Given the description of an element on the screen output the (x, y) to click on. 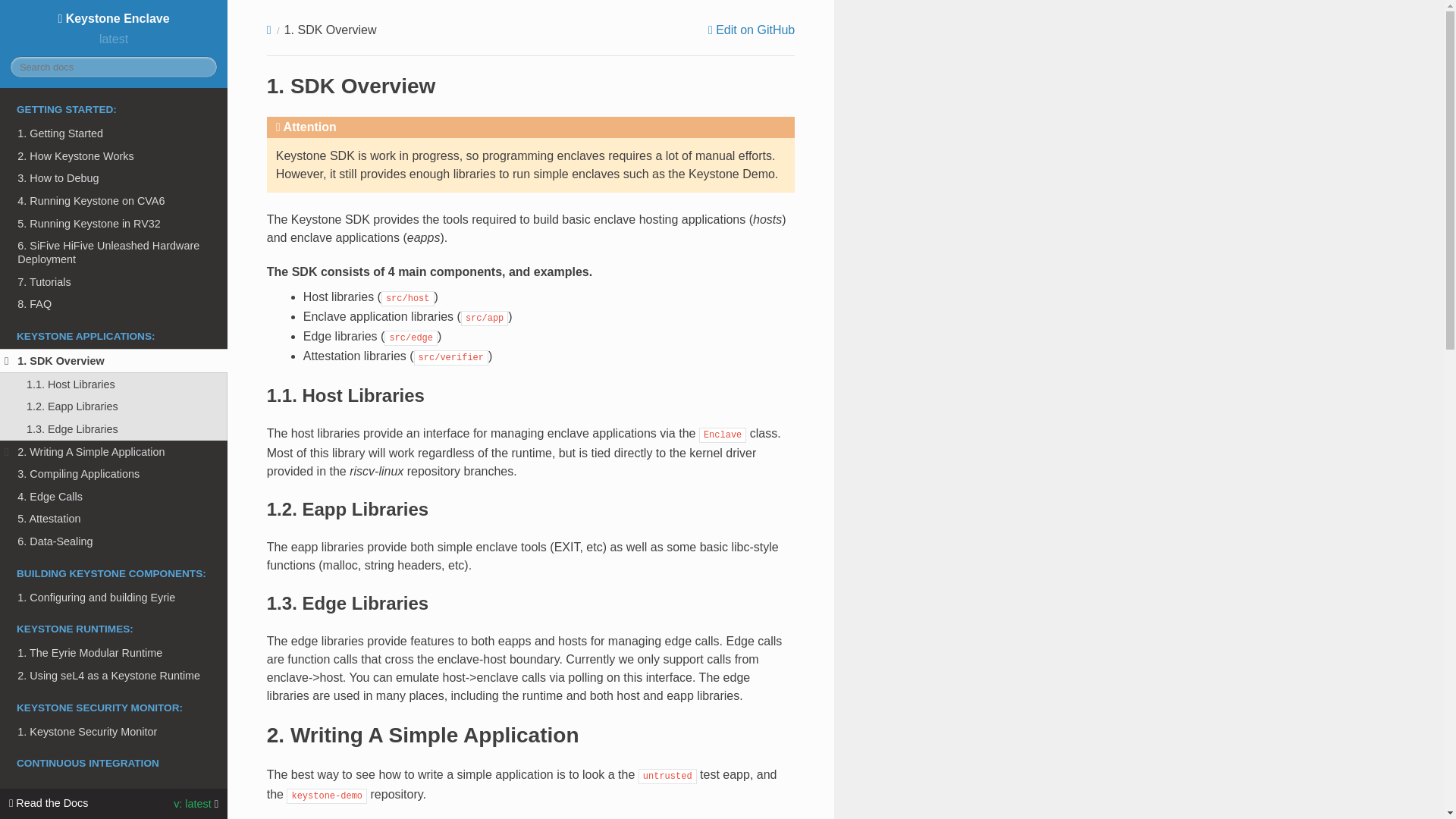
Keystone Enclave (112, 18)
2. How Keystone Works (113, 155)
1. The Eyrie Modular Runtime (113, 652)
5. Attestation (113, 518)
1.1. Host Libraries (113, 384)
4. Edge Calls (113, 496)
1. Keystone Security Monitor (113, 731)
1. Custom CI Runner (113, 786)
1.2. Eapp Libraries (113, 405)
7. Tutorials (113, 282)
